Given the description of an element on the screen output the (x, y) to click on. 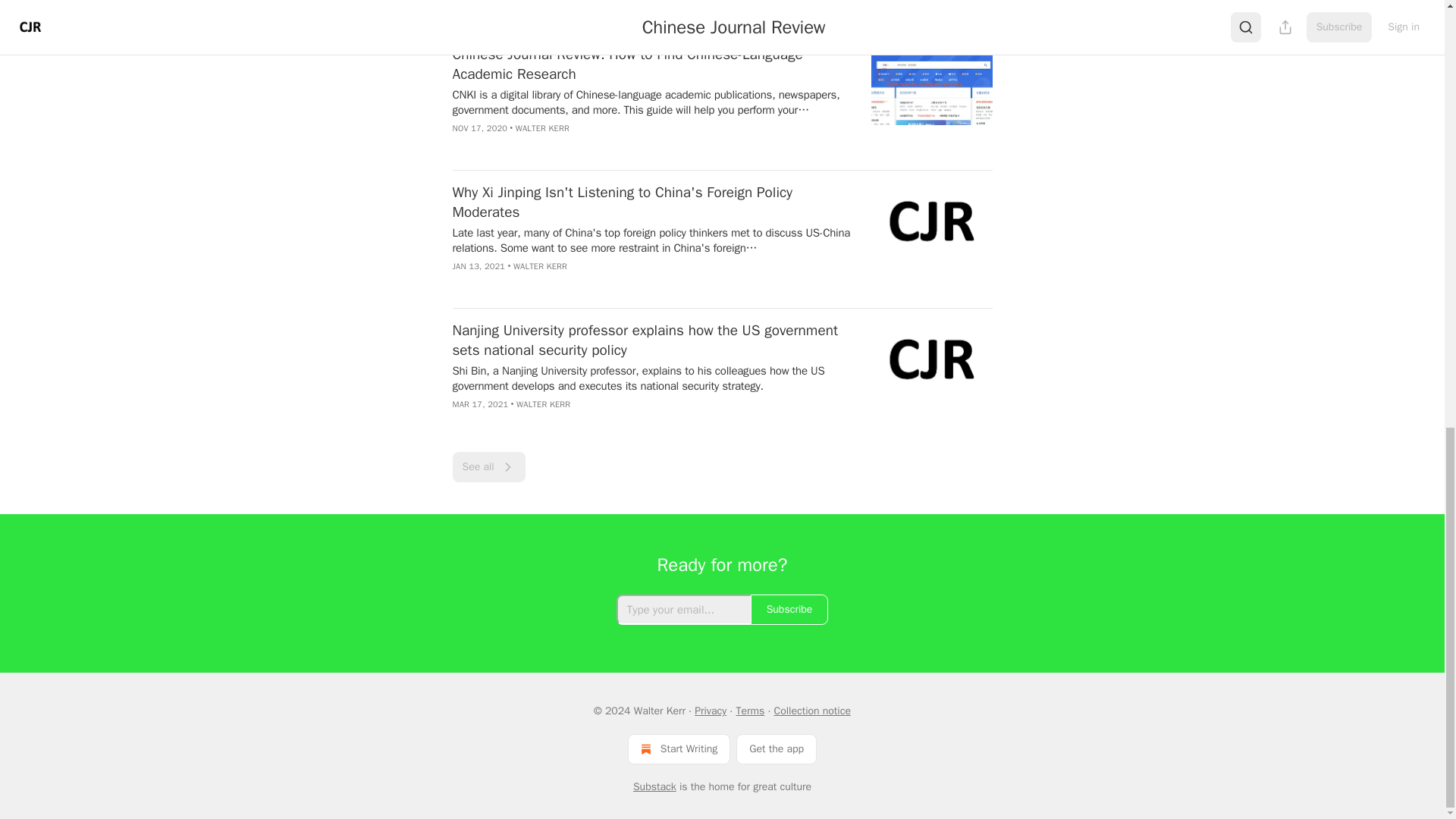
WALTER KERR (542, 127)
Privacy (710, 710)
Latest (518, 11)
WALTER KERR (540, 266)
Get the app (776, 748)
WALTER KERR (543, 403)
Subscribe (789, 609)
Start Writing (678, 748)
Substack (655, 786)
See all (487, 467)
Collection notice (811, 710)
